Given the description of an element on the screen output the (x, y) to click on. 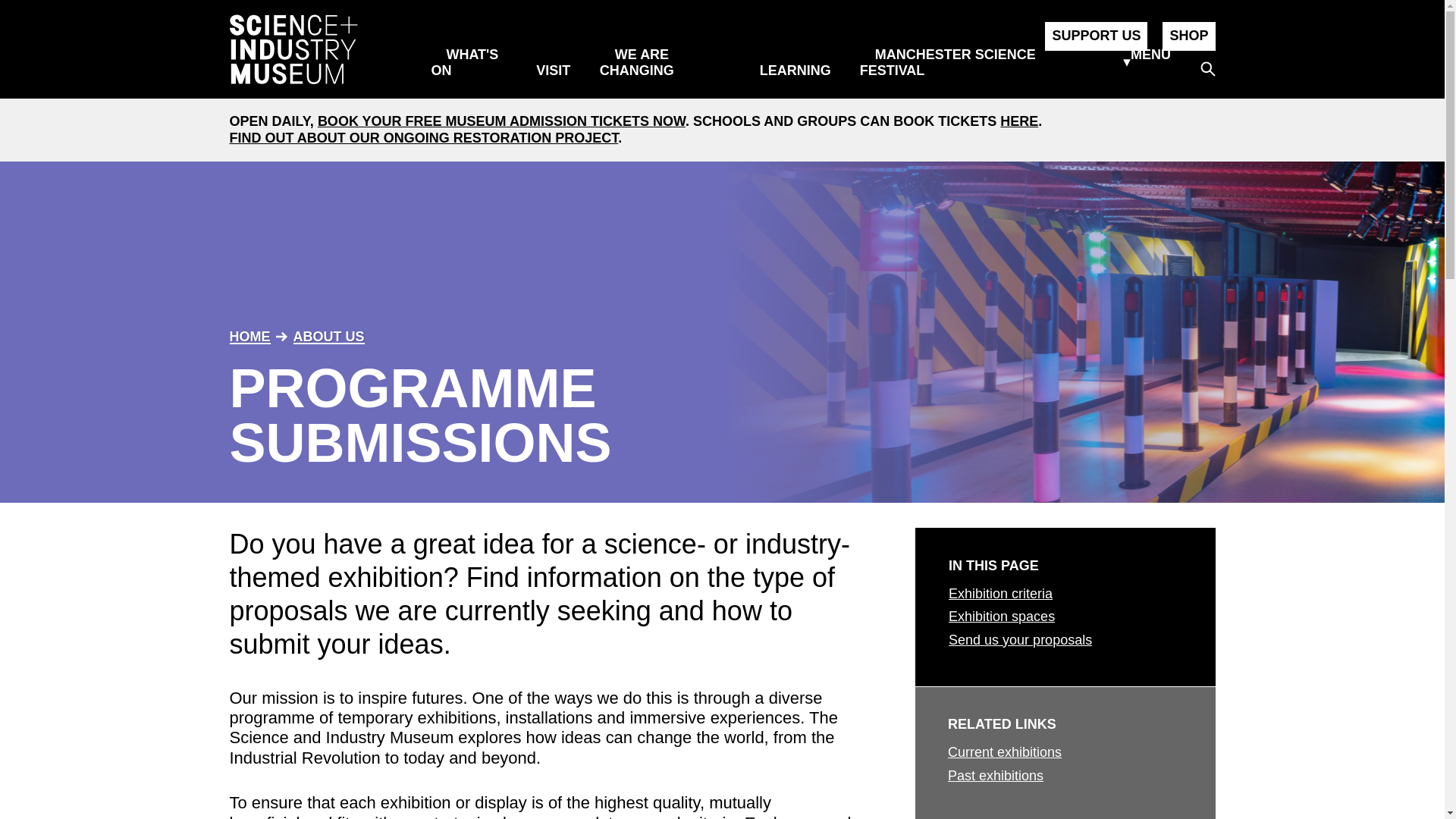
VISIT (560, 62)
MANCHESTER SCIENCE FESTIVAL (947, 62)
Toggle Search Bar (1206, 68)
LEARNING (802, 62)
MENU (1142, 62)
WE ARE CHANGING (643, 62)
SHOP (1187, 36)
WHAT'S ON (463, 62)
SUPPORT US (1096, 36)
